Given the description of an element on the screen output the (x, y) to click on. 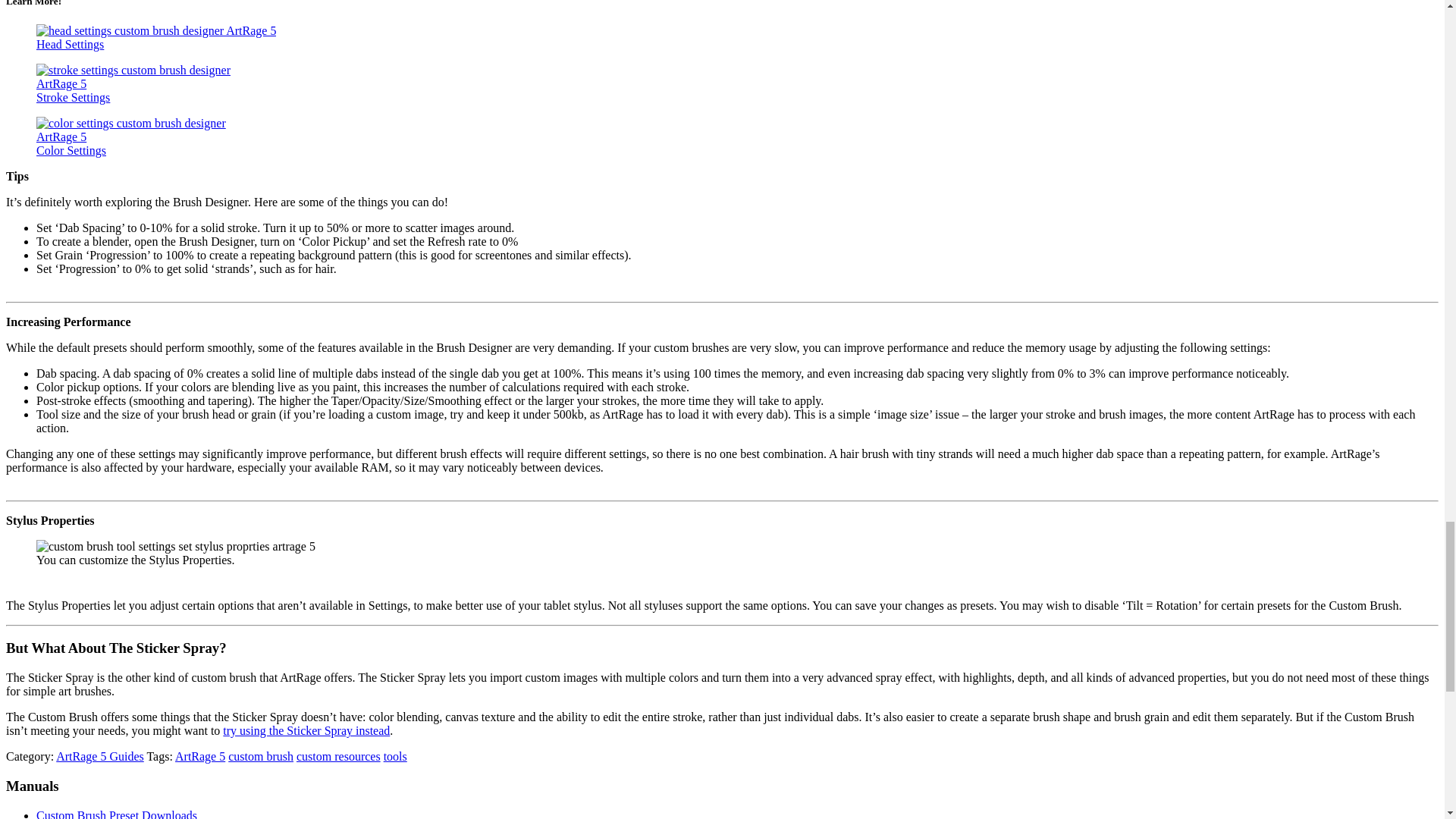
try using the Sticker Spray instead (306, 730)
Stroke Settings (73, 97)
Color Settings (71, 150)
Head Settings (69, 43)
